Given the description of an element on the screen output the (x, y) to click on. 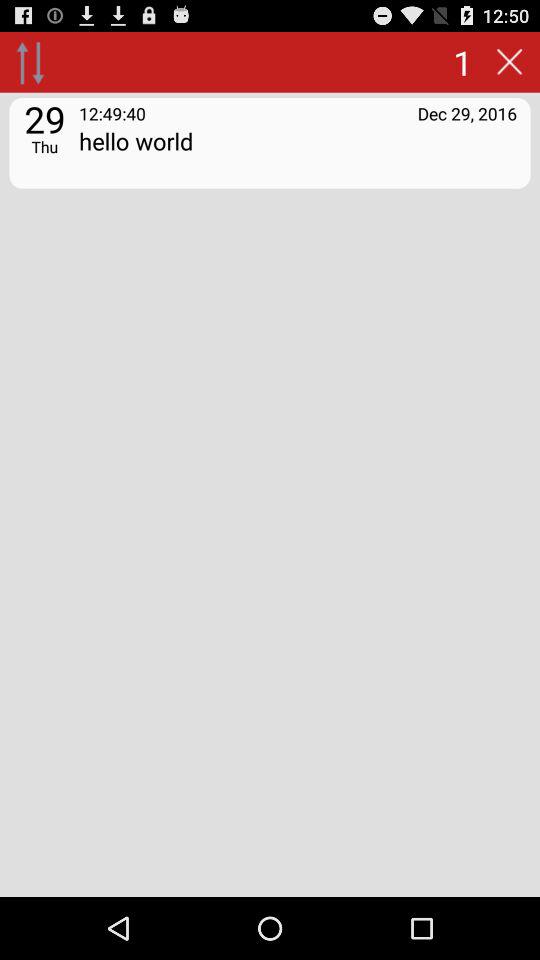
open item above hello world (467, 112)
